Given the description of an element on the screen output the (x, y) to click on. 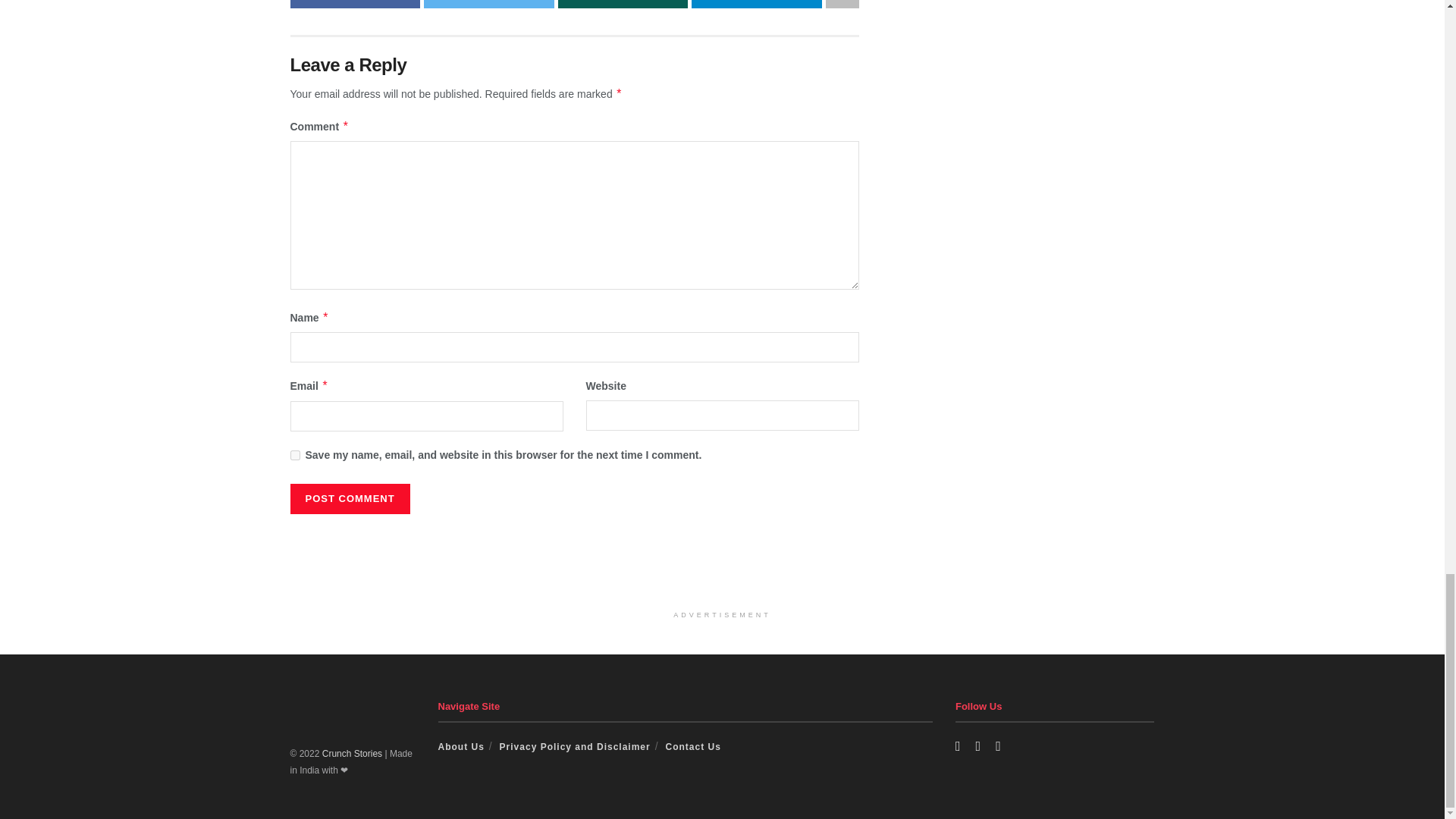
yes (294, 455)
Post Comment (349, 499)
Crunch Stories (351, 753)
